Given the description of an element on the screen output the (x, y) to click on. 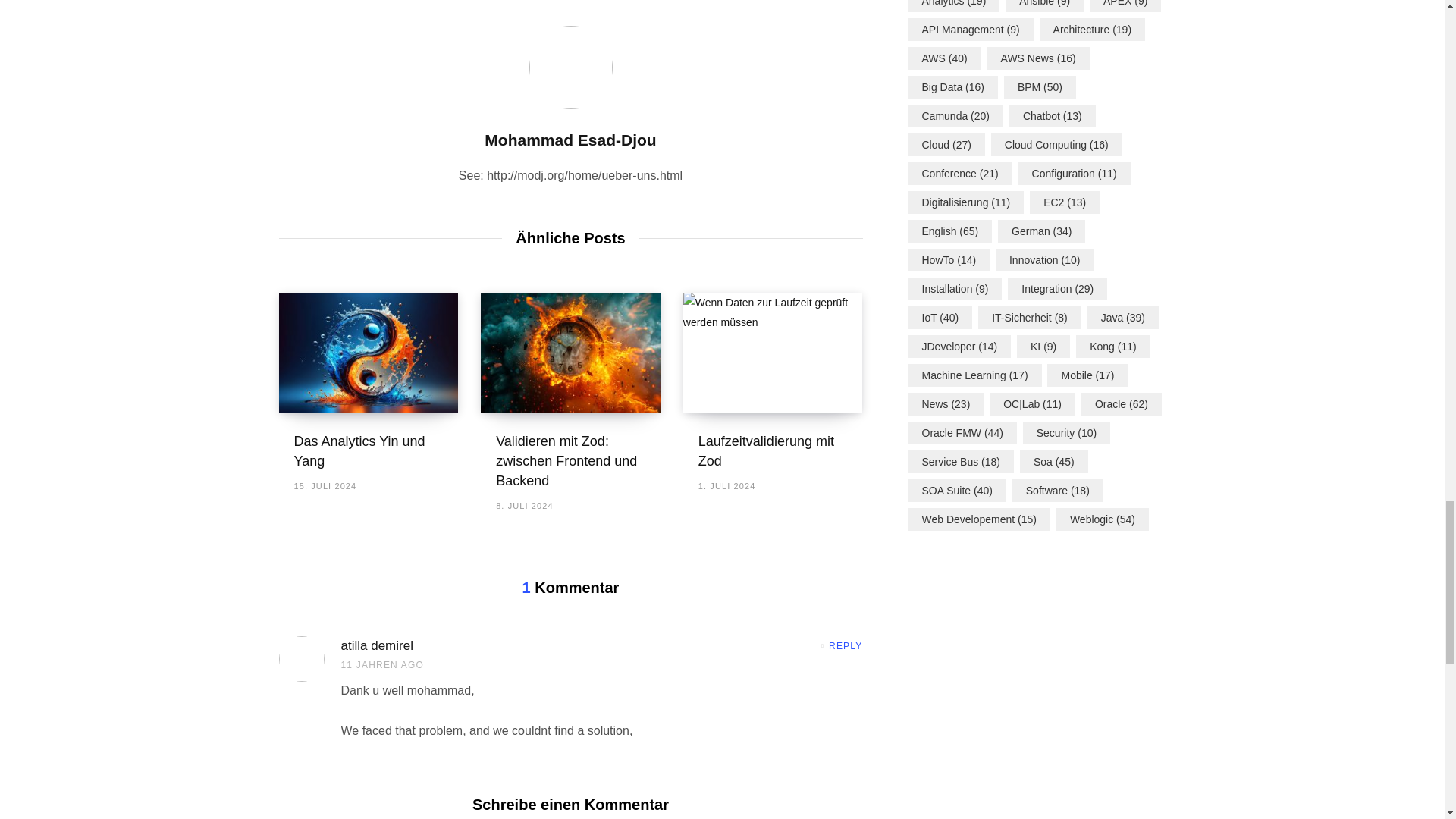
Das Analytics Yin und Yang (359, 451)
Mohammad Esad-Djou (570, 139)
Das Analytics Yin und Yang (368, 352)
